Given the description of an element on the screen output the (x, y) to click on. 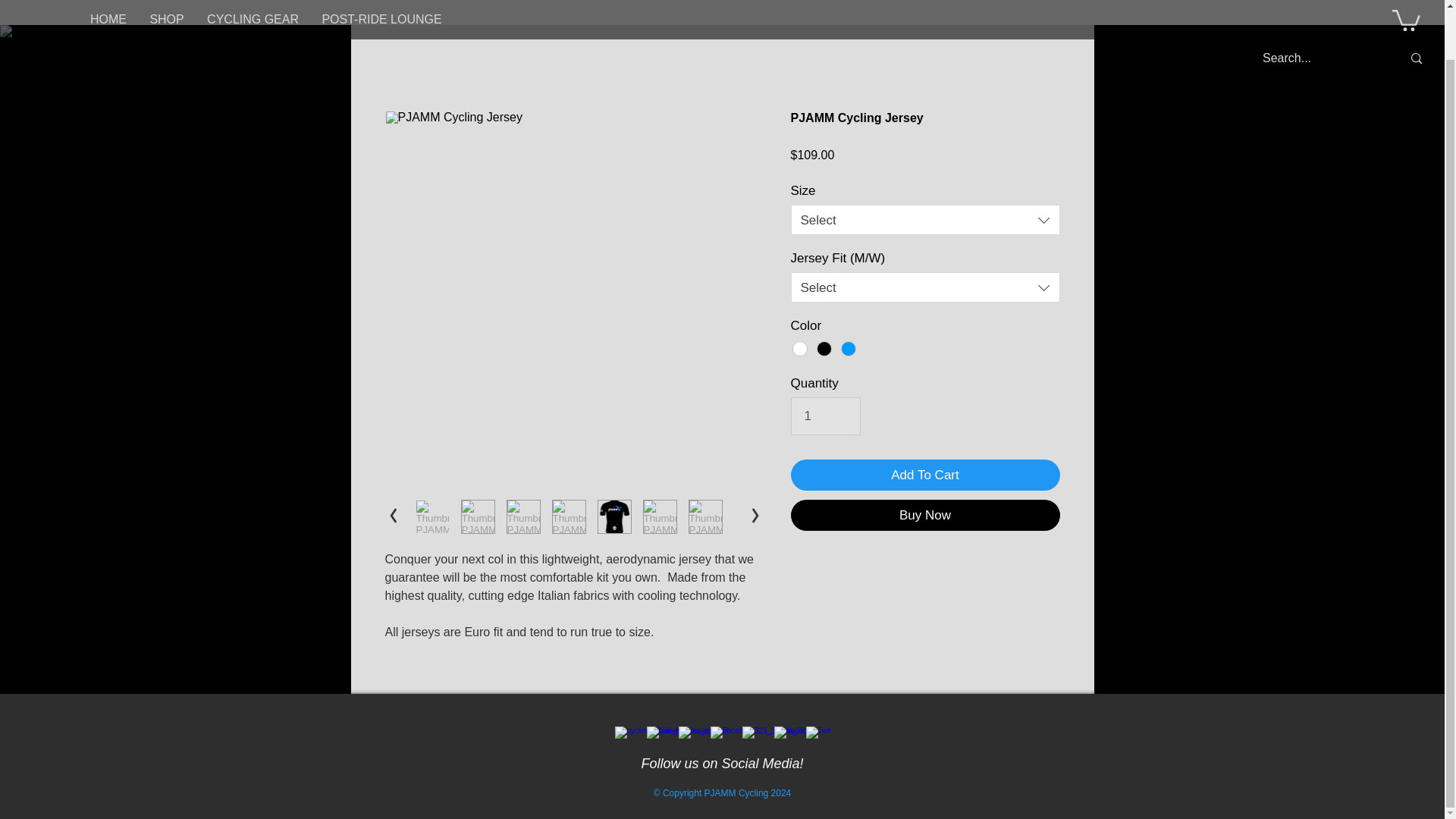
Select (924, 219)
Add To Cart (924, 475)
Buy Now (924, 514)
1 (825, 415)
Select (924, 286)
